Given the description of an element on the screen output the (x, y) to click on. 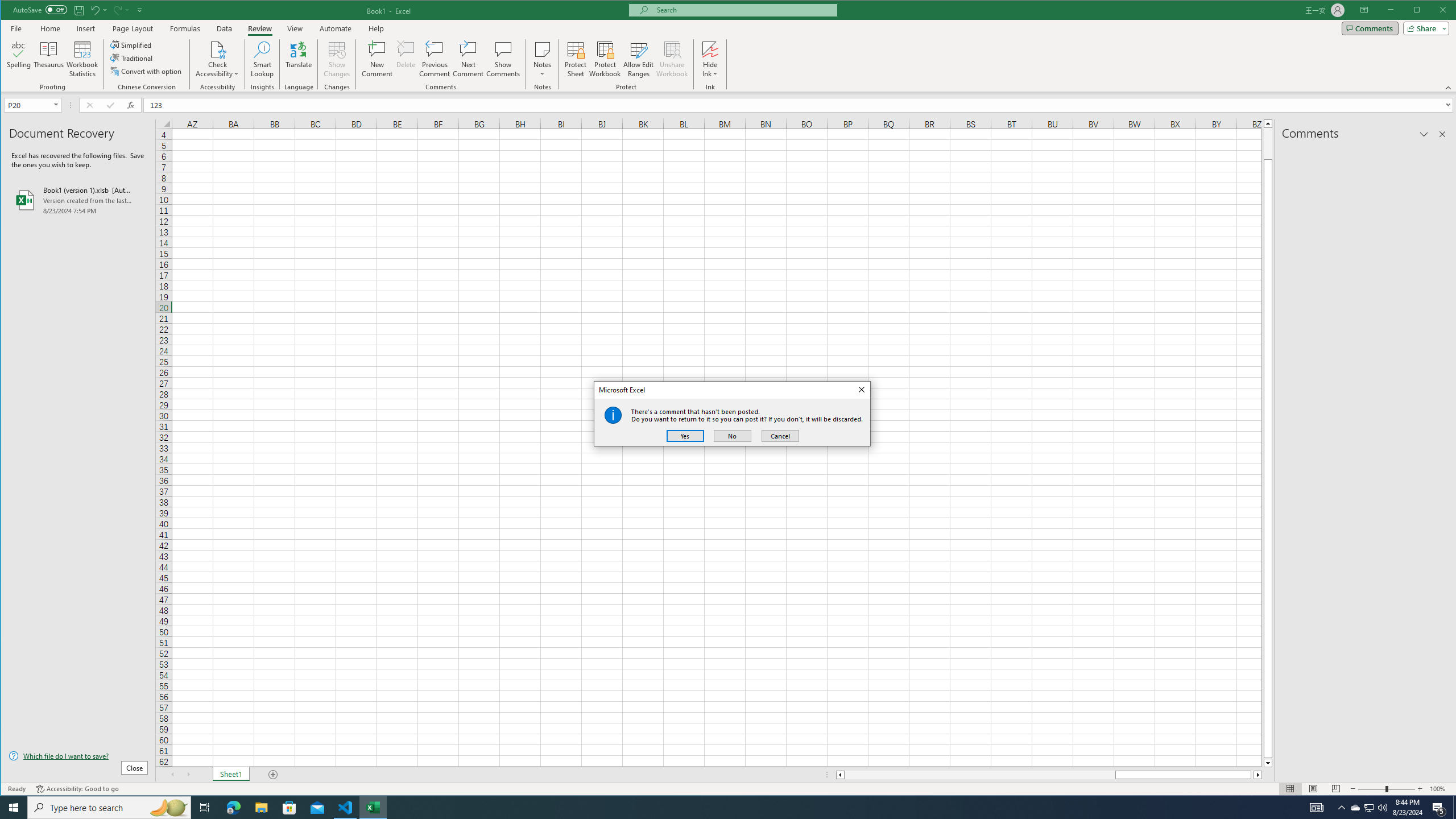
Previous Comment (434, 59)
Convert with option (146, 70)
Protect Workbook... (604, 59)
Start (13, 807)
Allow Edit Ranges (638, 59)
Visual Studio Code - 1 running window (345, 807)
Type here to search (108, 807)
Microsoft Edge (233, 807)
Yes (1368, 807)
Next Comment (684, 435)
